Given the description of an element on the screen output the (x, y) to click on. 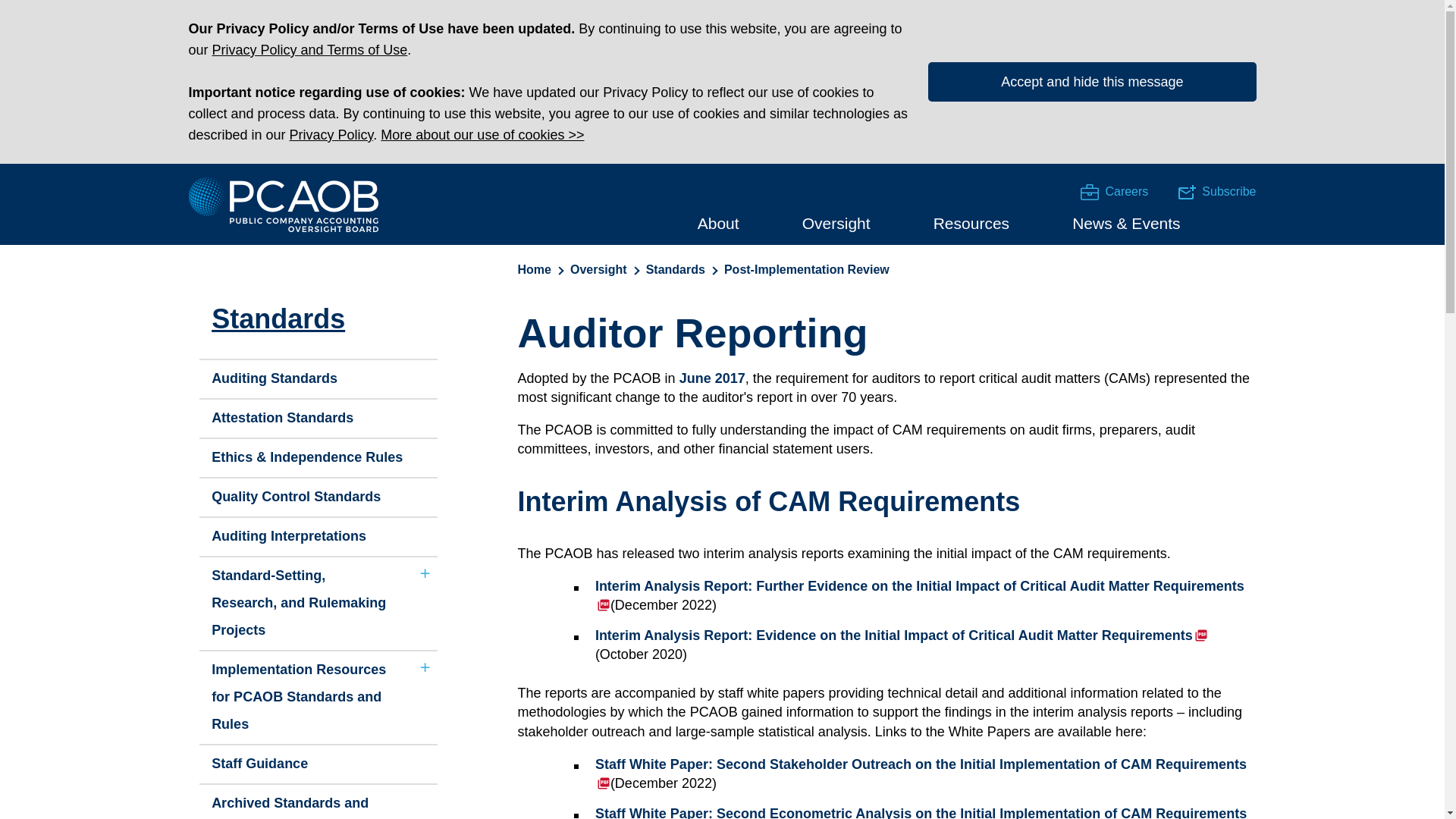
Subscribe (1186, 192)
Careers (1114, 191)
About (718, 222)
Subscribe (1216, 191)
Privacy Policy (331, 134)
Careers (1089, 191)
Privacy Policy and Terms of Use (309, 49)
Accept and hide this message (1091, 82)
Oversight (836, 222)
